Given the description of an element on the screen output the (x, y) to click on. 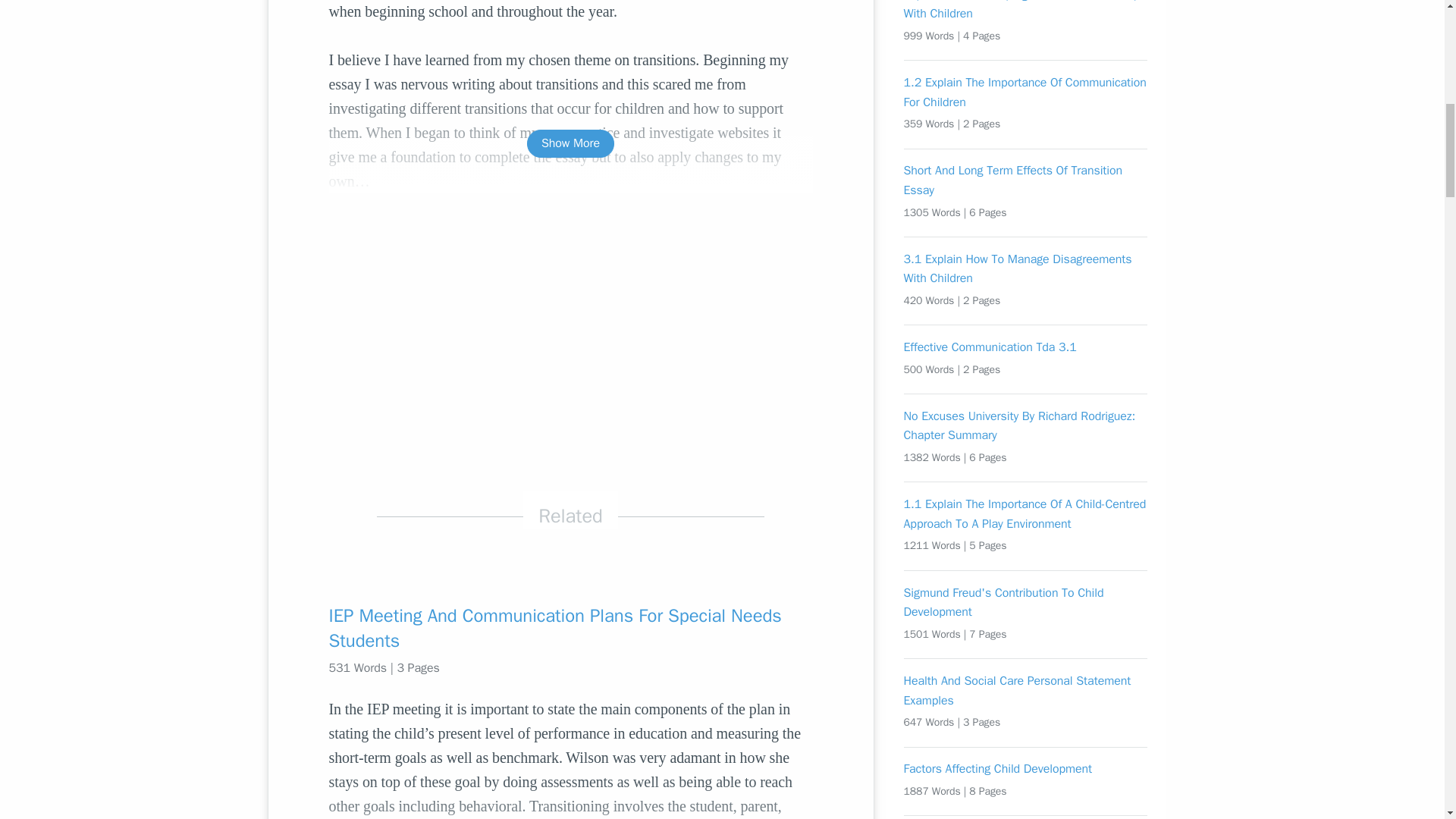
Show More (570, 143)
